Given the description of an element on the screen output the (x, y) to click on. 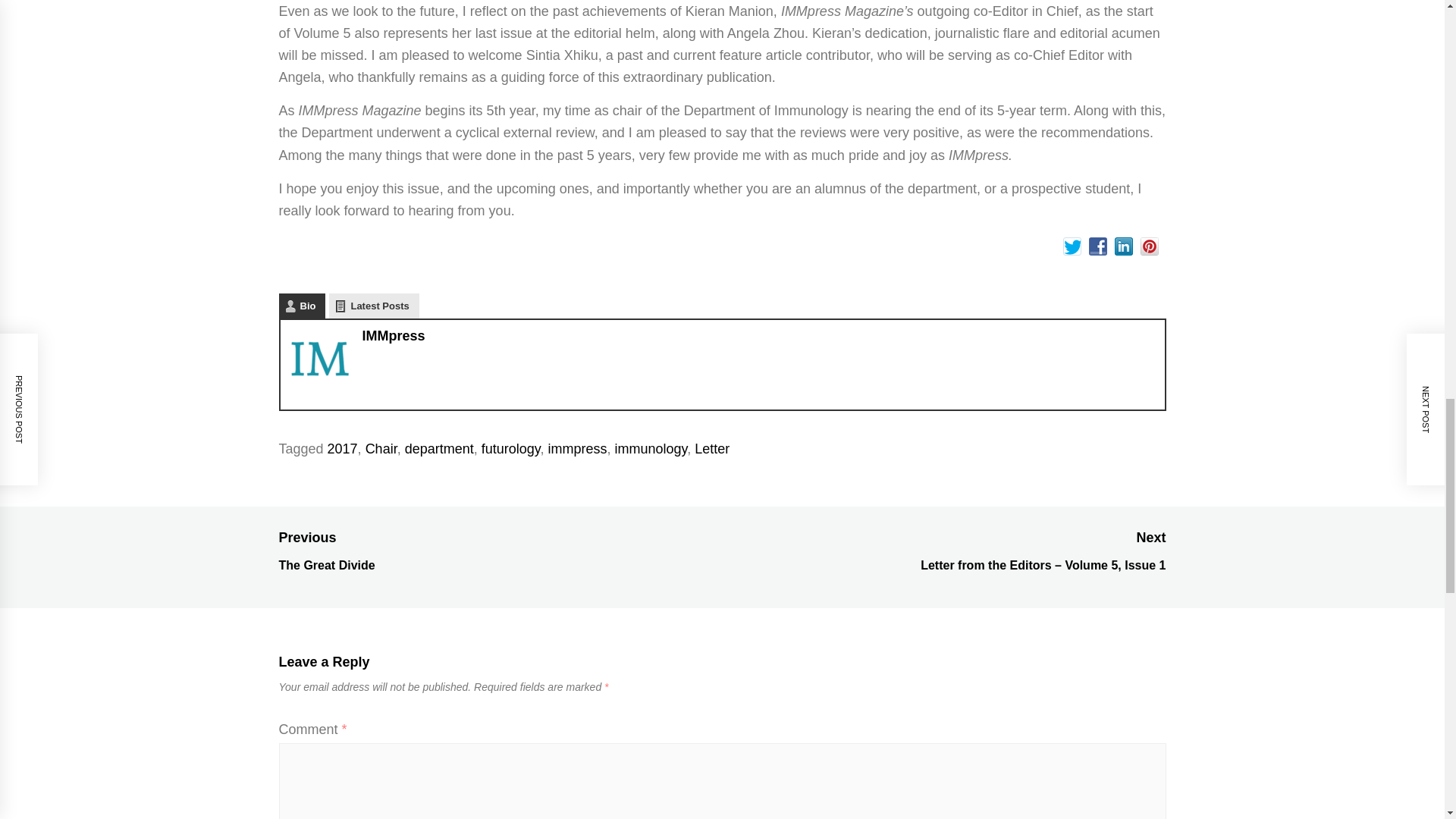
immunology (650, 448)
immpress (577, 448)
department (439, 448)
Chair (381, 448)
Latest Posts (374, 305)
Bio (302, 305)
2017 (342, 448)
futurology (510, 448)
